Given the description of an element on the screen output the (x, y) to click on. 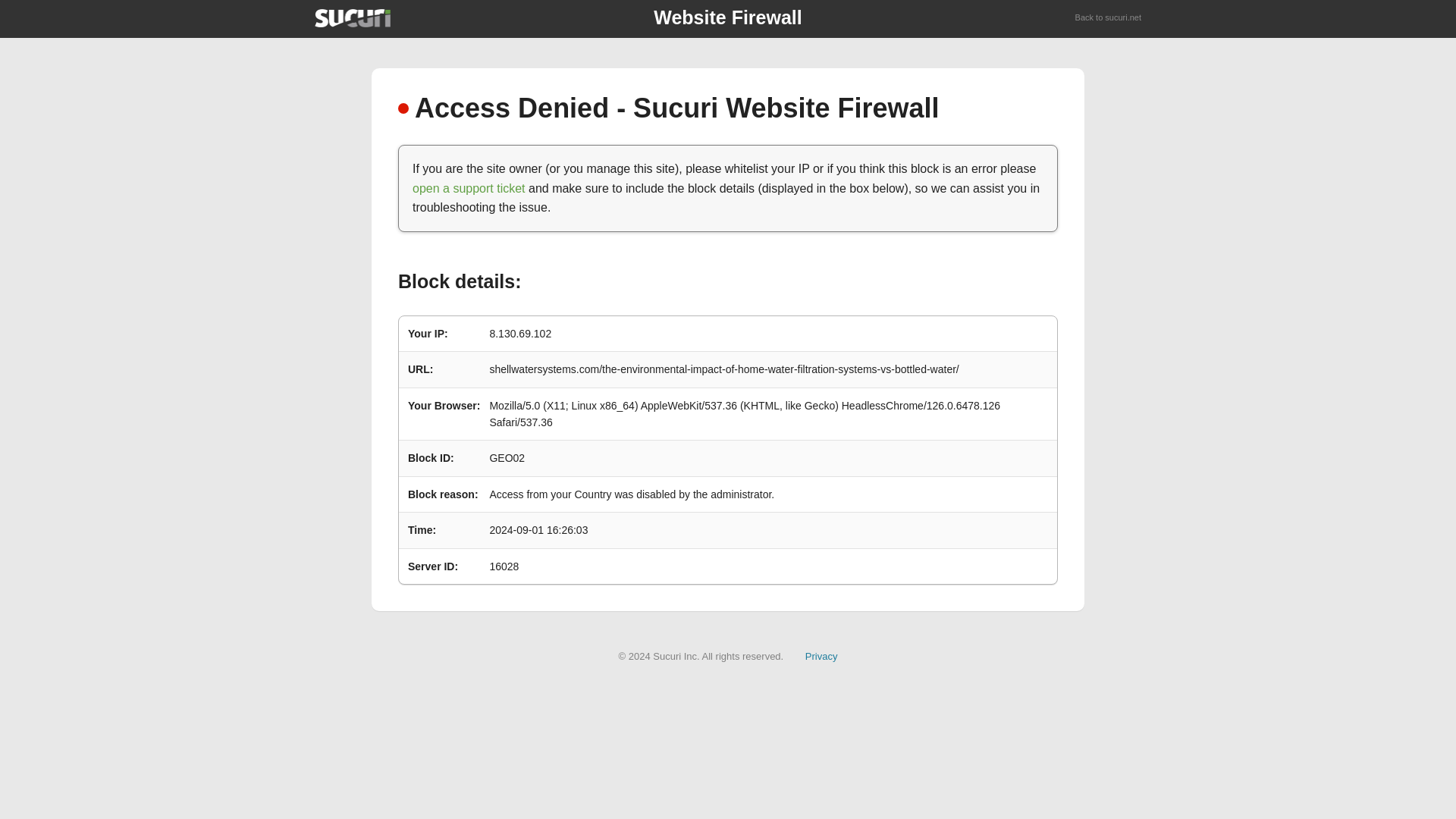
Privacy (821, 655)
open a support ticket (468, 187)
Back to sucuri.net (1108, 18)
